Given the description of an element on the screen output the (x, y) to click on. 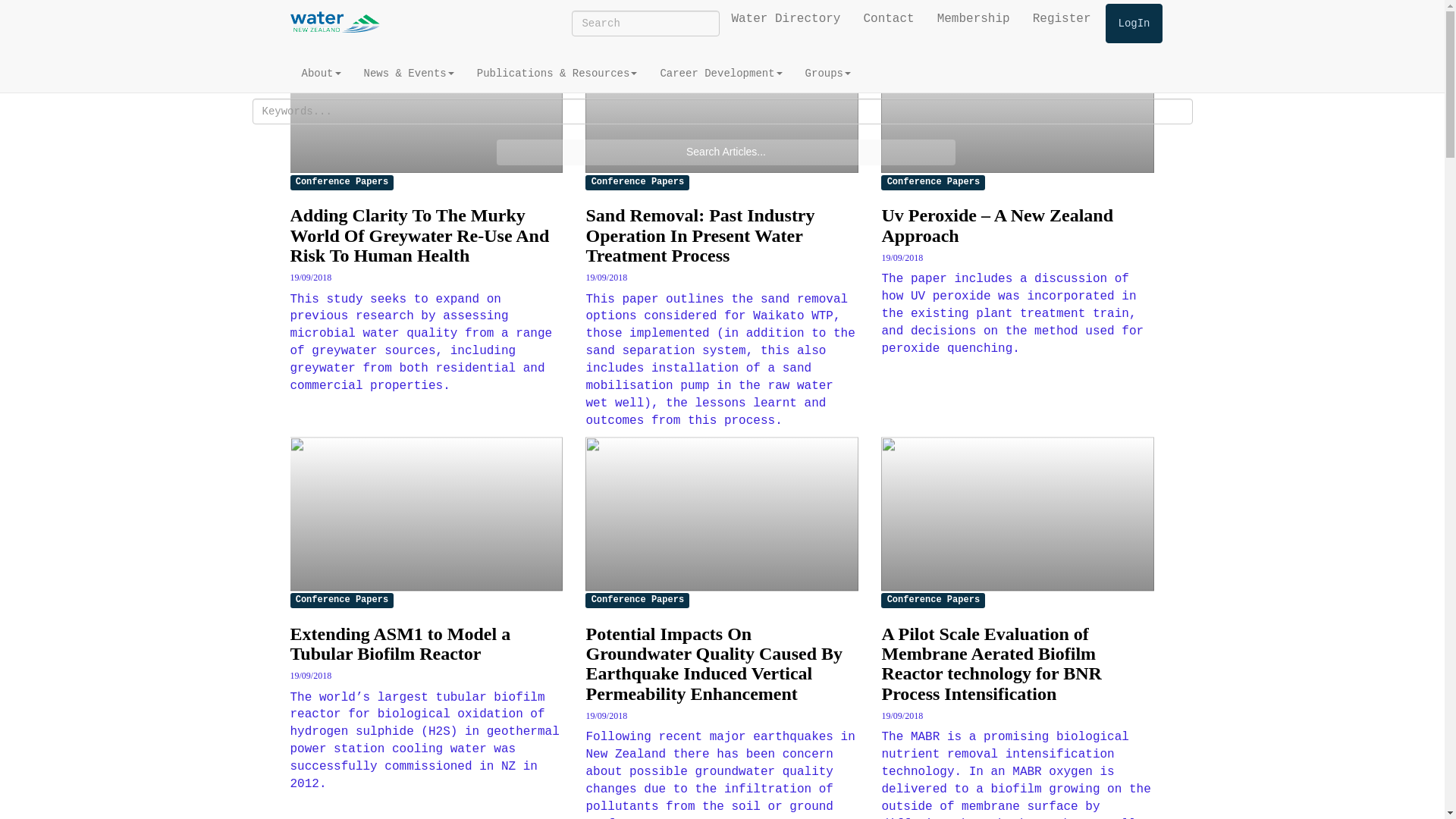
About (320, 73)
Membership (974, 18)
LogIn (1133, 23)
Contact (887, 18)
Career Development (720, 73)
Register (1062, 18)
Water Directory (785, 18)
